Given the description of an element on the screen output the (x, y) to click on. 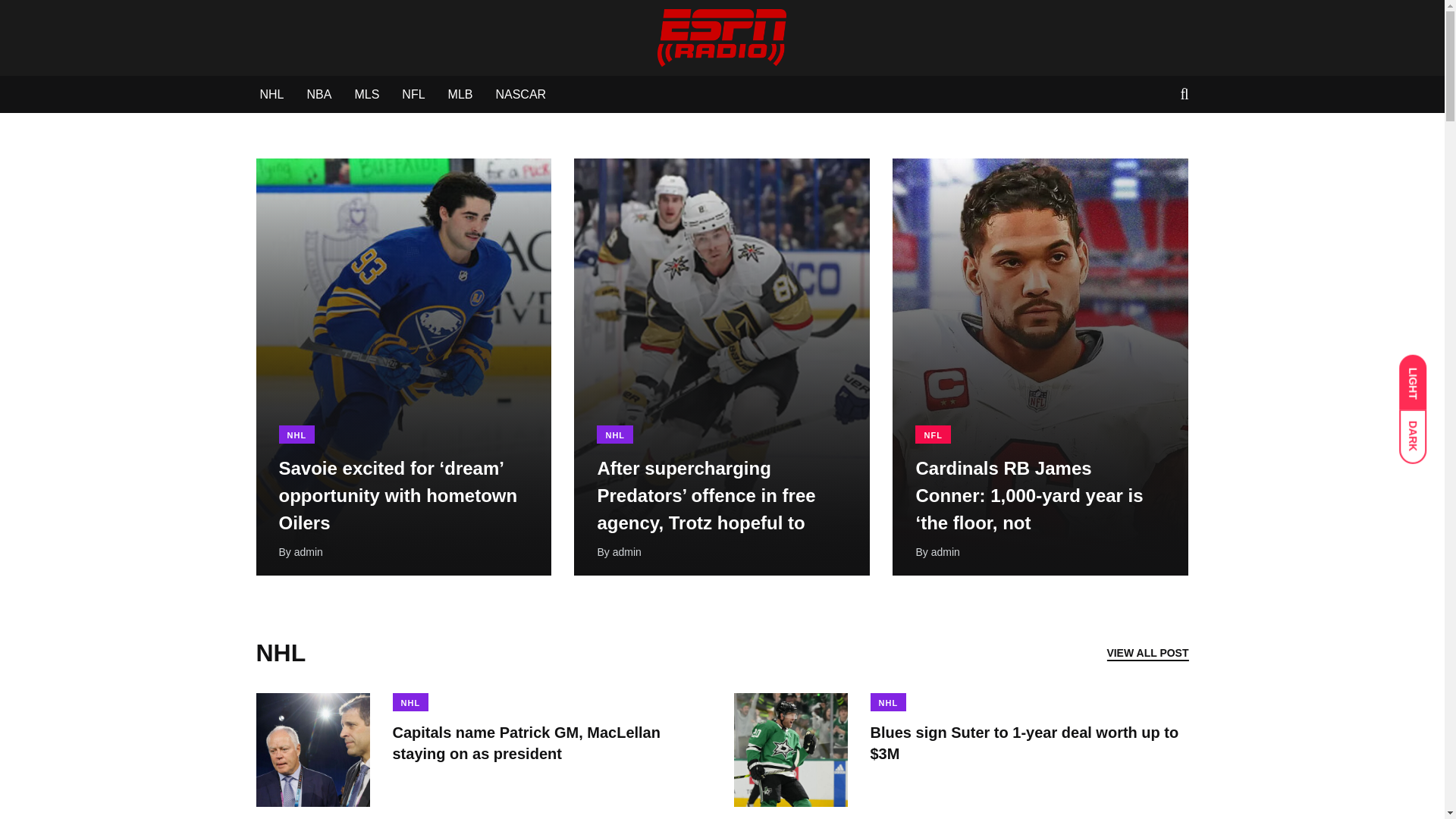
MLB (460, 94)
NHL (888, 701)
Dark Mode (1419, 428)
NHL (297, 434)
MLS (365, 94)
NASCAR (520, 94)
NHL (271, 94)
NFL (932, 434)
NBA (319, 94)
VIEW ALL POST (1147, 652)
Capitals name Patrick GM, MacLellan staying on as president (527, 742)
admin (308, 551)
Light Mode (1420, 375)
admin (627, 551)
admin (945, 551)
